Given the description of an element on the screen output the (x, y) to click on. 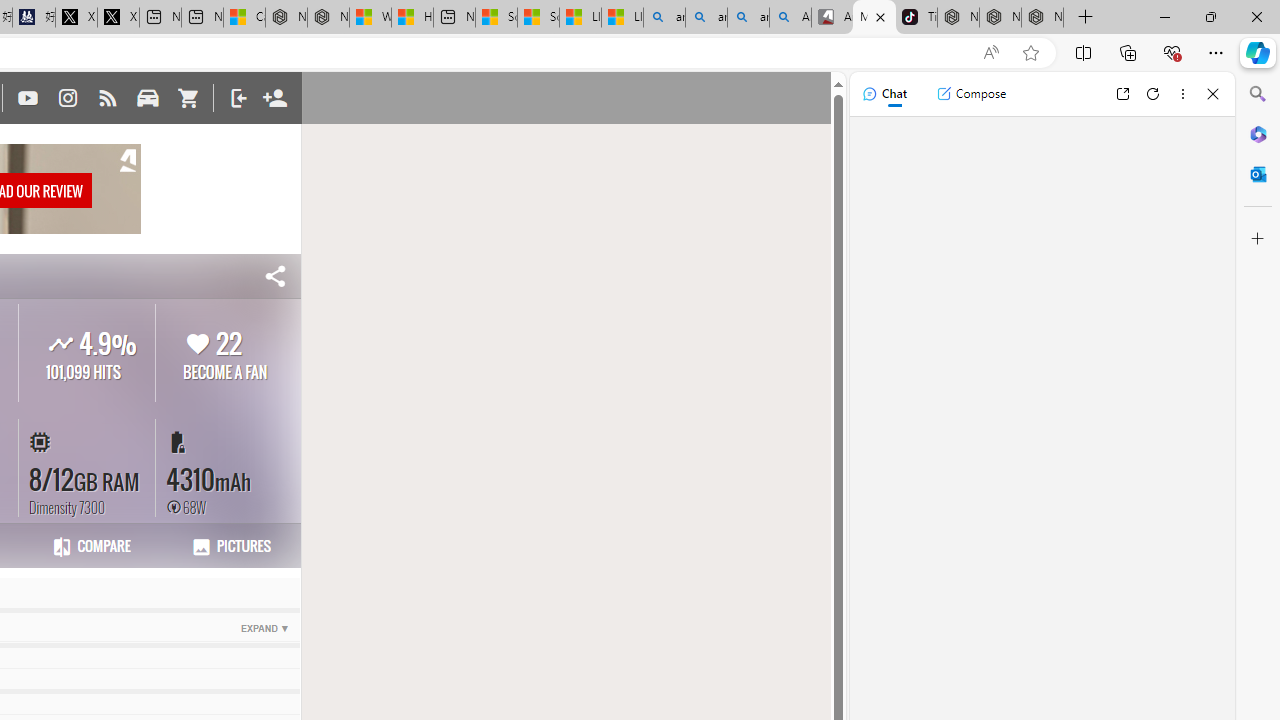
Outlook (1258, 174)
amazon - Search Images (748, 17)
Open link in new tab (1122, 93)
Nordace - Siena Pro 15 Essential Set (1042, 17)
